Given the description of an element on the screen output the (x, y) to click on. 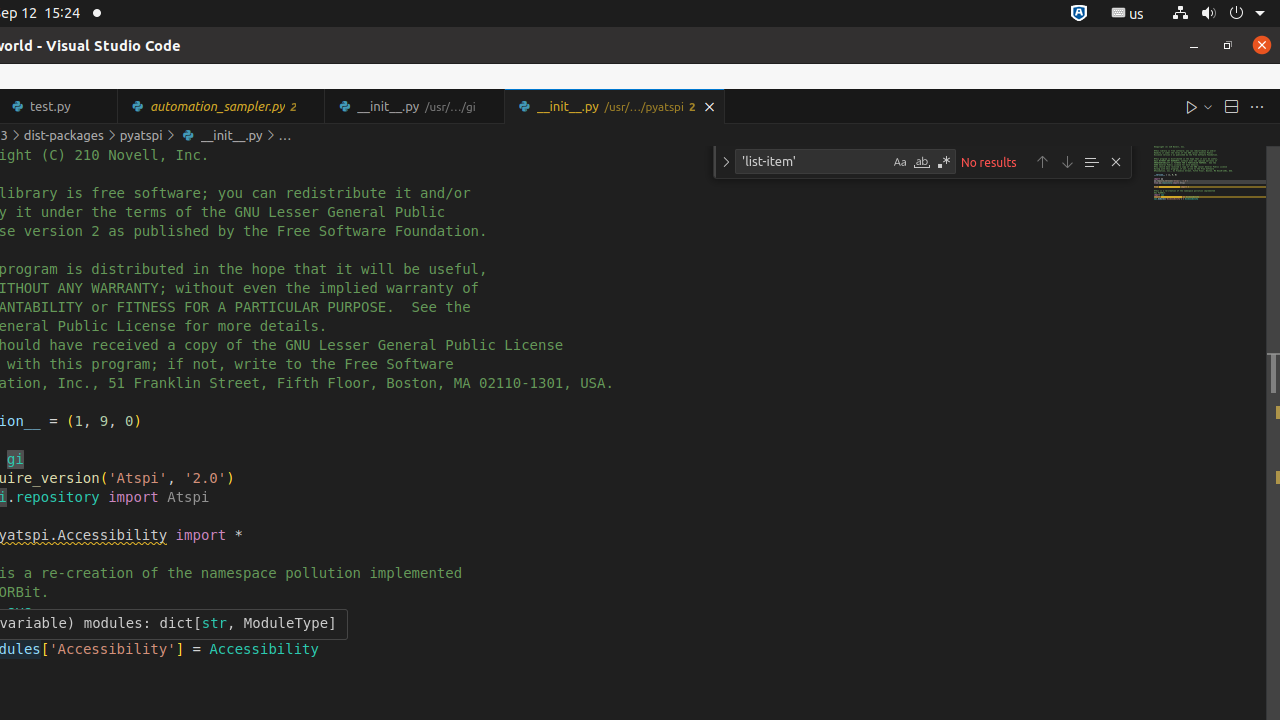
Toggle Replace Element type: push-button (726, 162)
Next Match (Enter) Element type: push-button (1067, 161)
Run Python File Element type: push-button (1192, 106)
Use Regular Expression (Alt+R) Element type: check-box (944, 162)
Split Editor Down Element type: push-button (1231, 106)
